Given the description of an element on the screen output the (x, y) to click on. 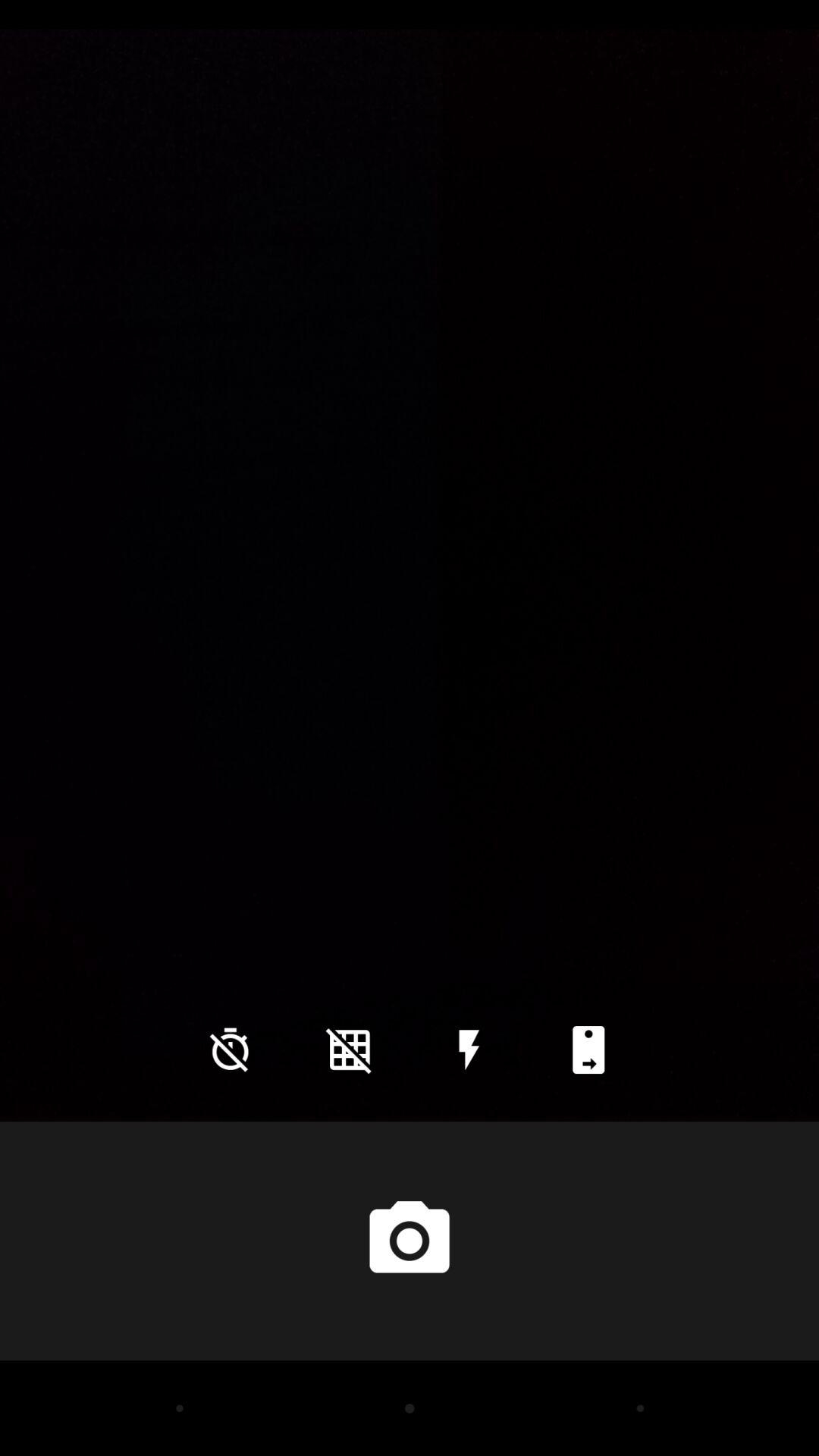
launch item at the bottom right corner (588, 1049)
